Given the description of an element on the screen output the (x, y) to click on. 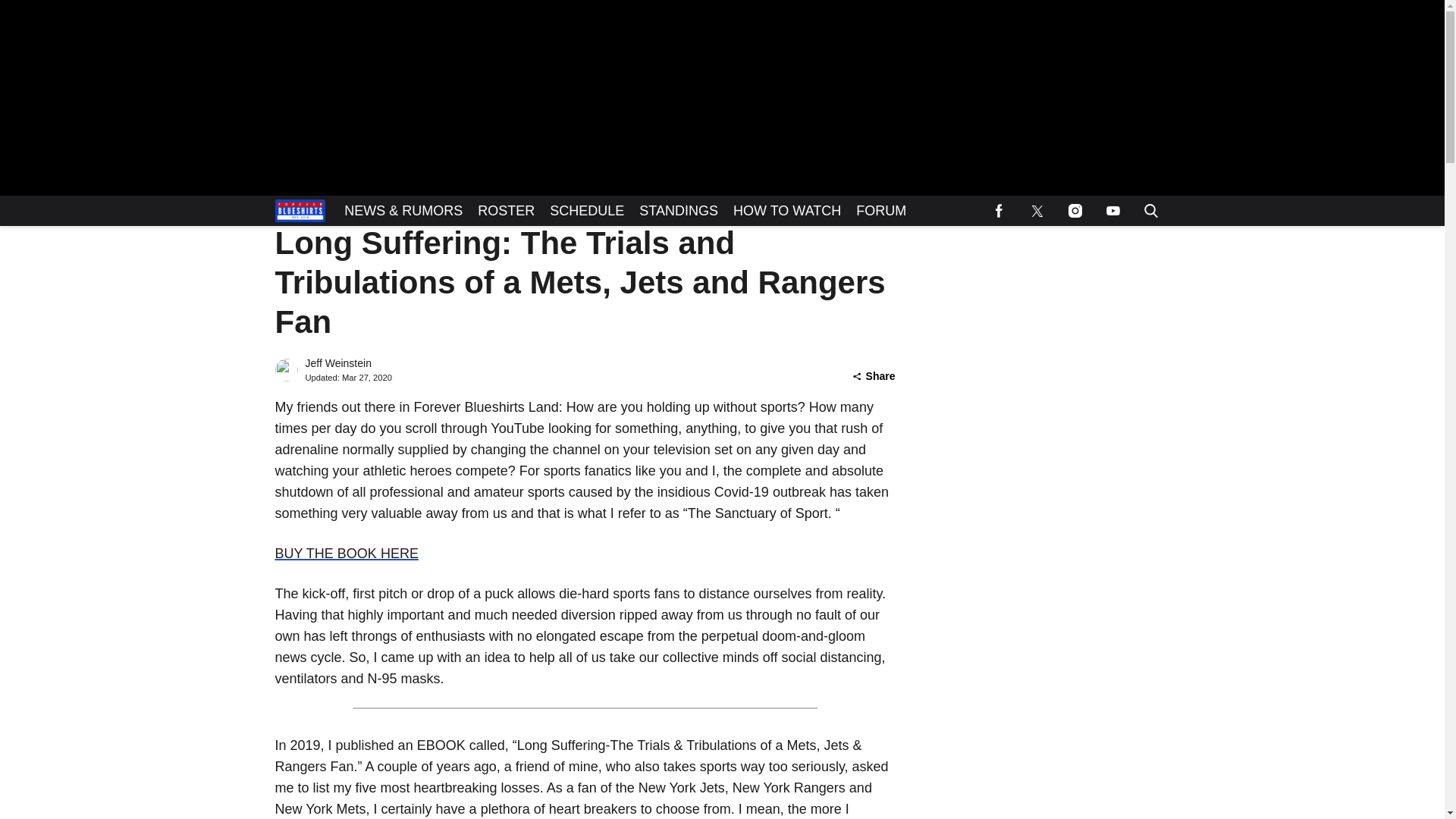
Follow us on Instagram (1074, 210)
ROSTER (505, 210)
FORUM (881, 210)
BUY THE BOOK HERE (346, 553)
Posts by Jeff Weinstein (337, 363)
Follow us on Facebook (998, 210)
HOW TO WATCH (786, 210)
SCHEDULE (586, 210)
Subscribe to our YouTube channel (1112, 210)
Follow us on Twitter (1036, 210)
